Given the description of an element on the screen output the (x, y) to click on. 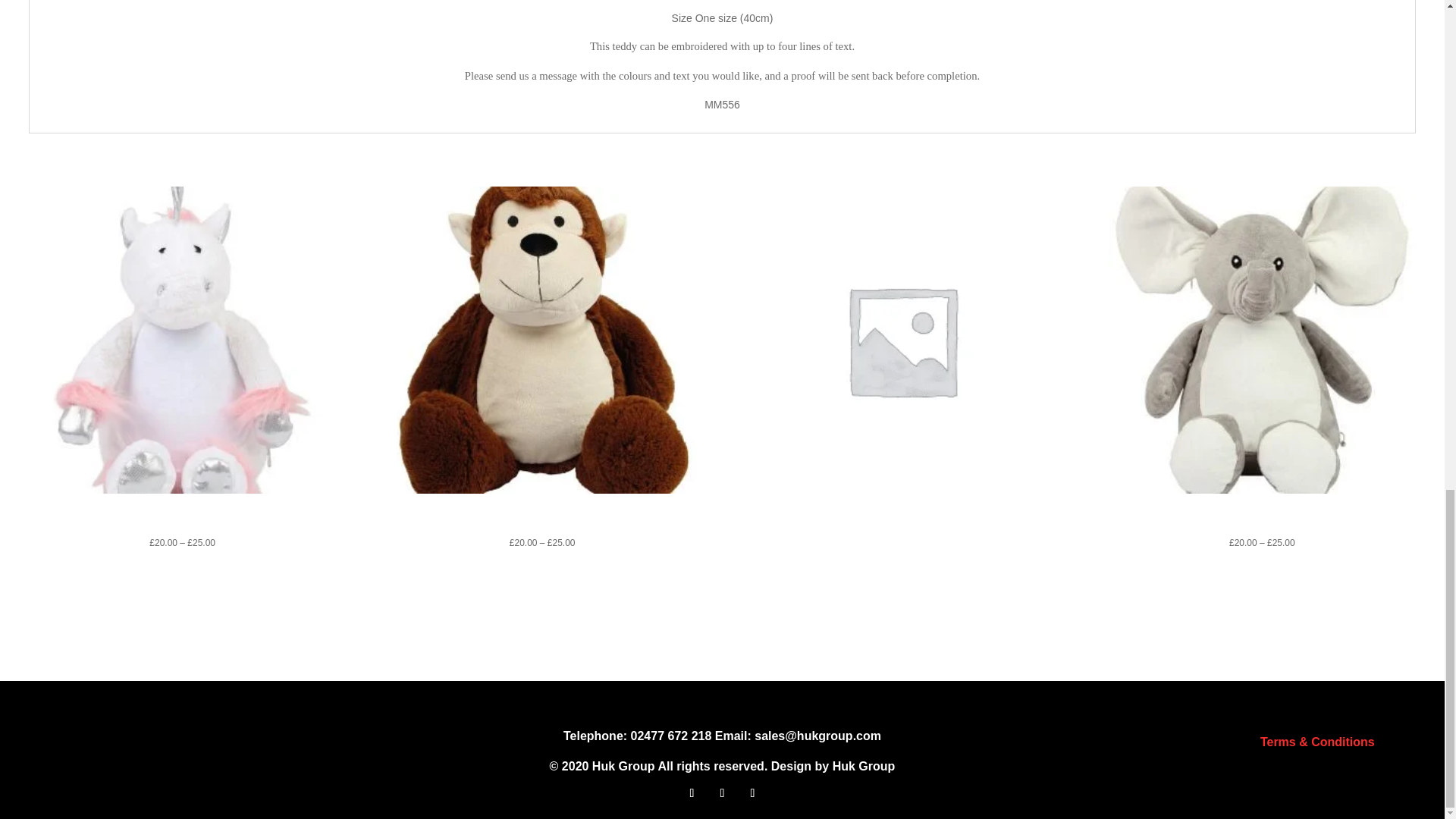
Follow on Instagram (721, 793)
Follow on Facebook (691, 793)
Follow on Youtube (751, 793)
